Given the description of an element on the screen output the (x, y) to click on. 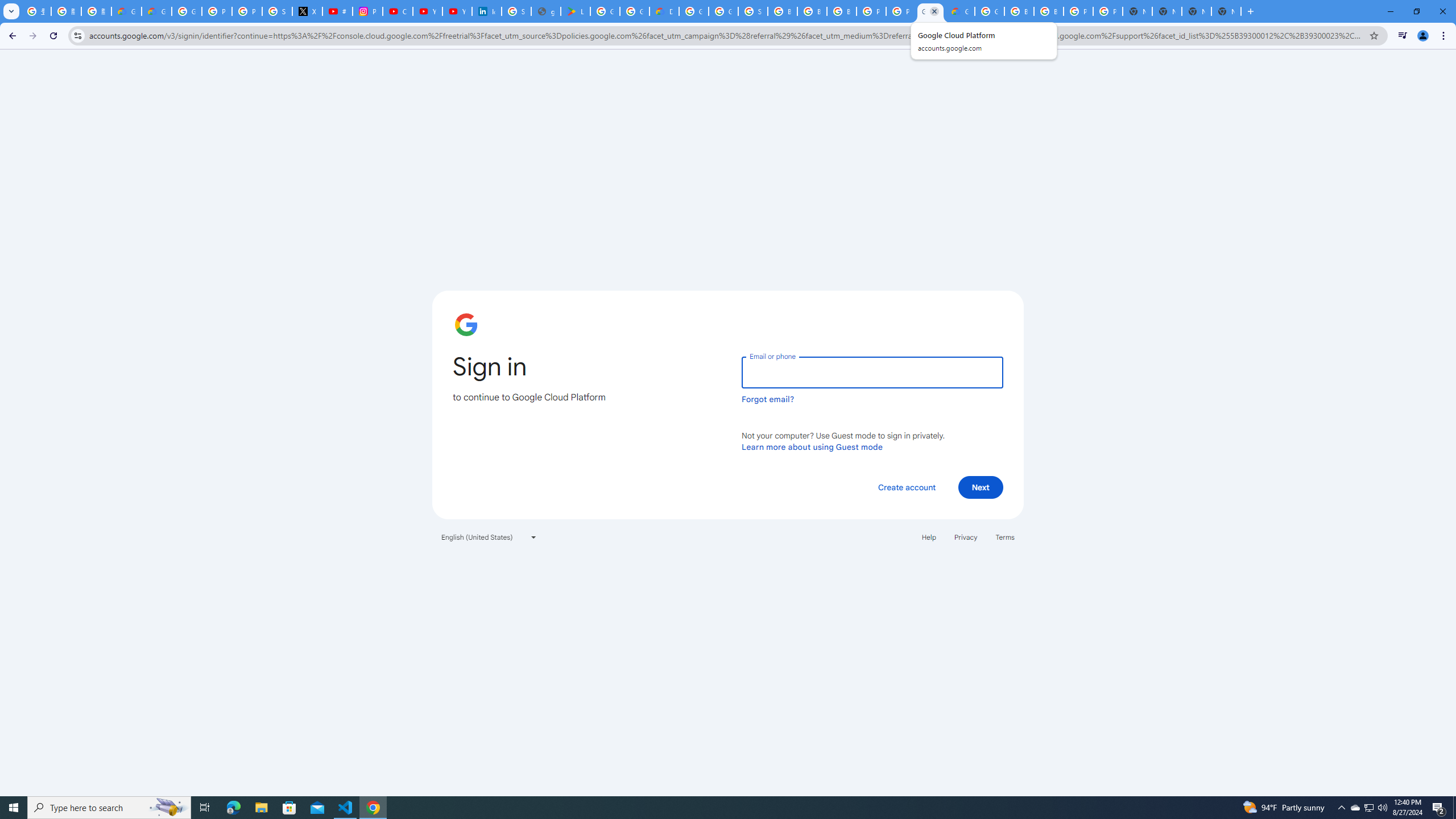
Last Shelter: Survival - Apps on Google Play (575, 11)
Sign in - Google Accounts (277, 11)
Sign in - Google Accounts (753, 11)
Google Cloud Privacy Notice (156, 11)
Google Cloud Privacy Notice (126, 11)
English (United States) (489, 536)
Browse Chrome as a guest - Computer - Google Chrome Help (782, 11)
New Tab (1226, 11)
